Given the description of an element on the screen output the (x, y) to click on. 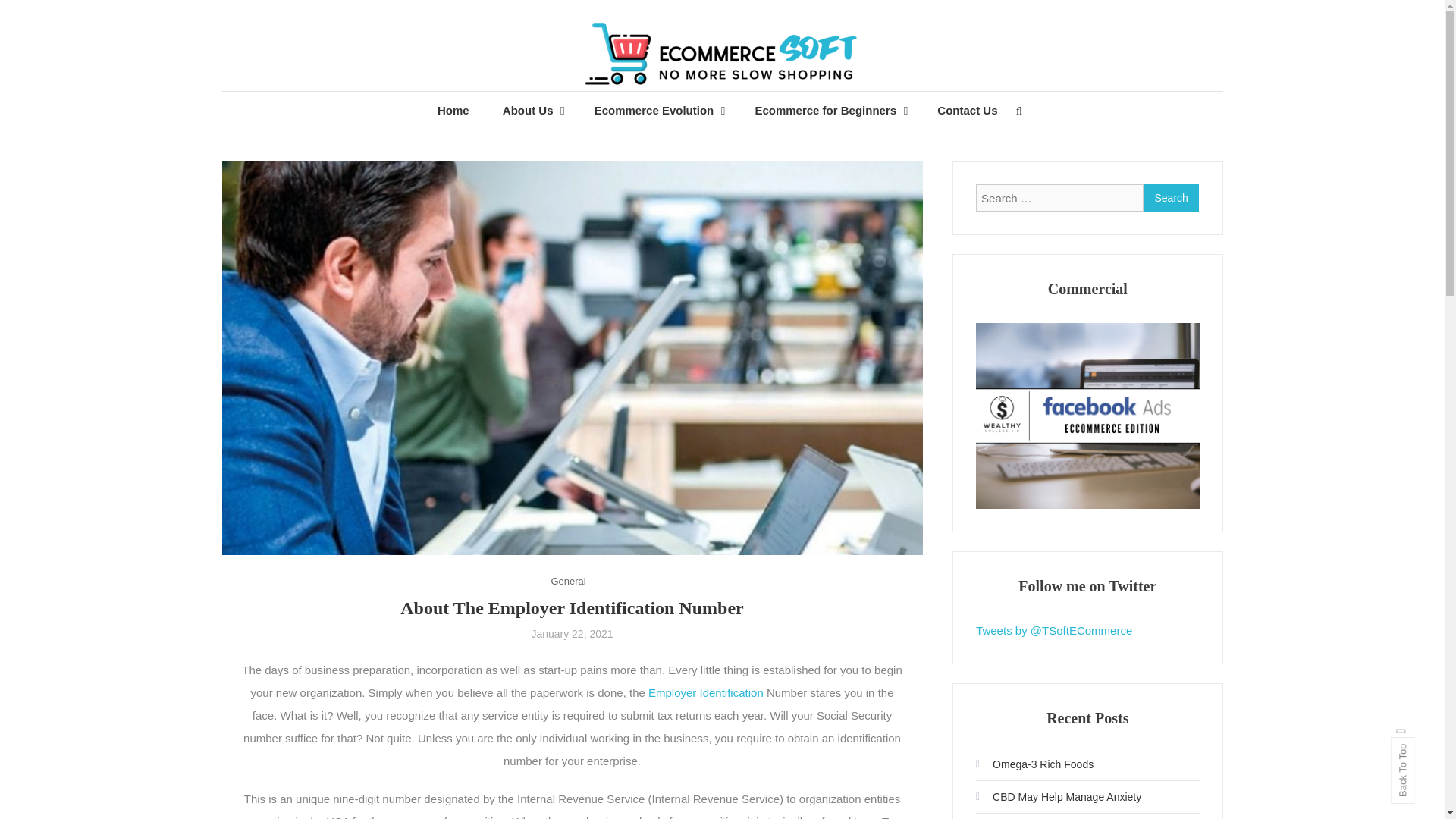
Omega-3 Rich Foods (1034, 764)
Employer Identification (704, 692)
Contact Us (966, 110)
Home (453, 110)
Ecommerce for Beginners (823, 110)
January 22, 2021 (571, 633)
General (567, 580)
Search (768, 432)
Search (1170, 197)
Search (1170, 197)
Search (1170, 197)
Ecommerce Evolution (652, 110)
About Us (525, 110)
CBD May Help Manage Anxiety (1058, 796)
